Given the description of an element on the screen output the (x, y) to click on. 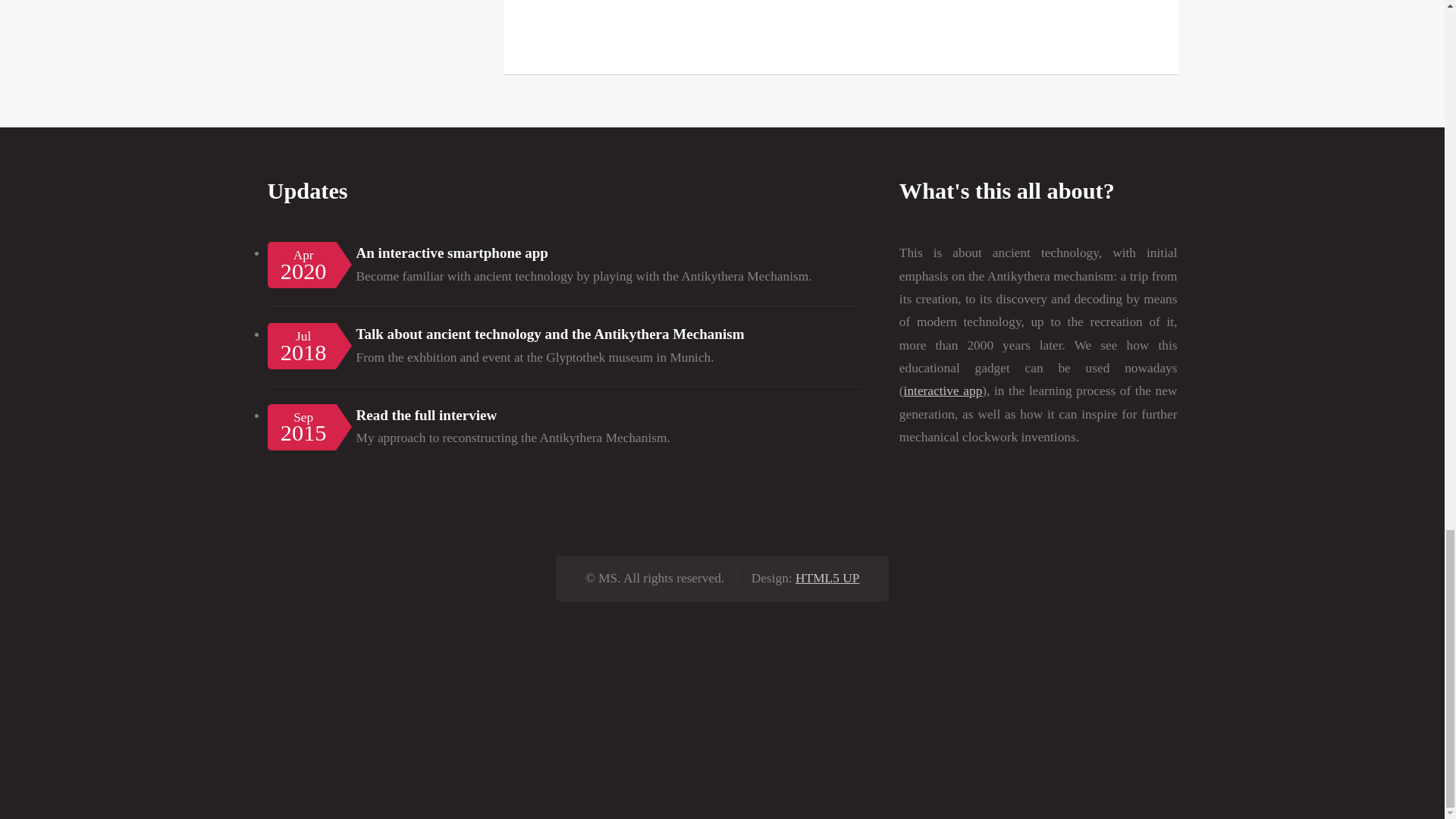
Talk about ancient technology and the Antikythera Mechanism (550, 333)
An interactive smartphone app (452, 252)
Read the full interview (426, 415)
interactive app (943, 391)
HTML5 UP (826, 577)
